Given the description of an element on the screen output the (x, y) to click on. 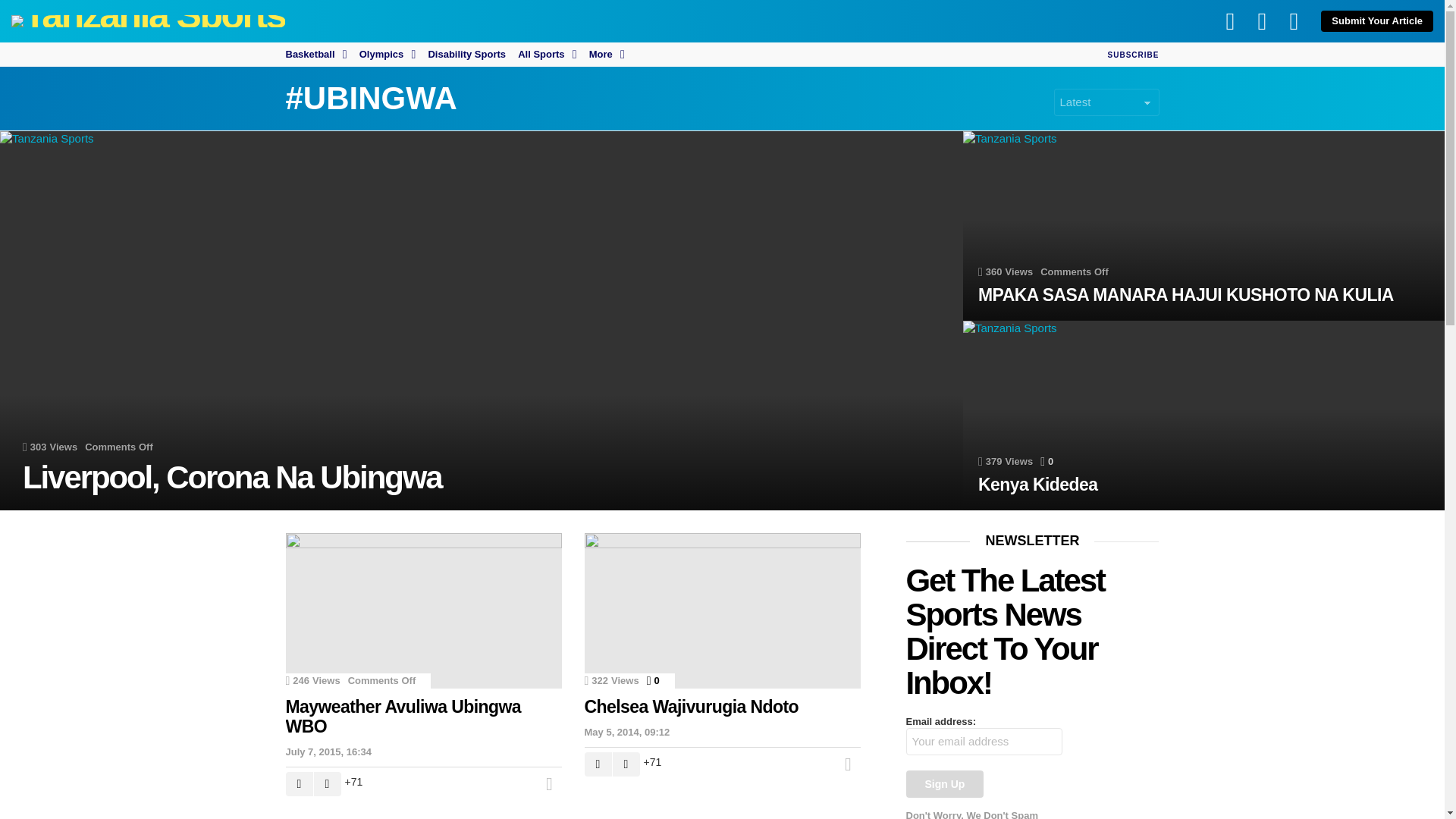
Submit Your Article (1376, 20)
Olympics (387, 54)
Sign up (944, 783)
Mayweather avuliwa ubingwa WBO (422, 610)
All Sports (547, 54)
Upvote (299, 784)
Disability Sports (466, 54)
Basketball (315, 54)
